Given the description of an element on the screen output the (x, y) to click on. 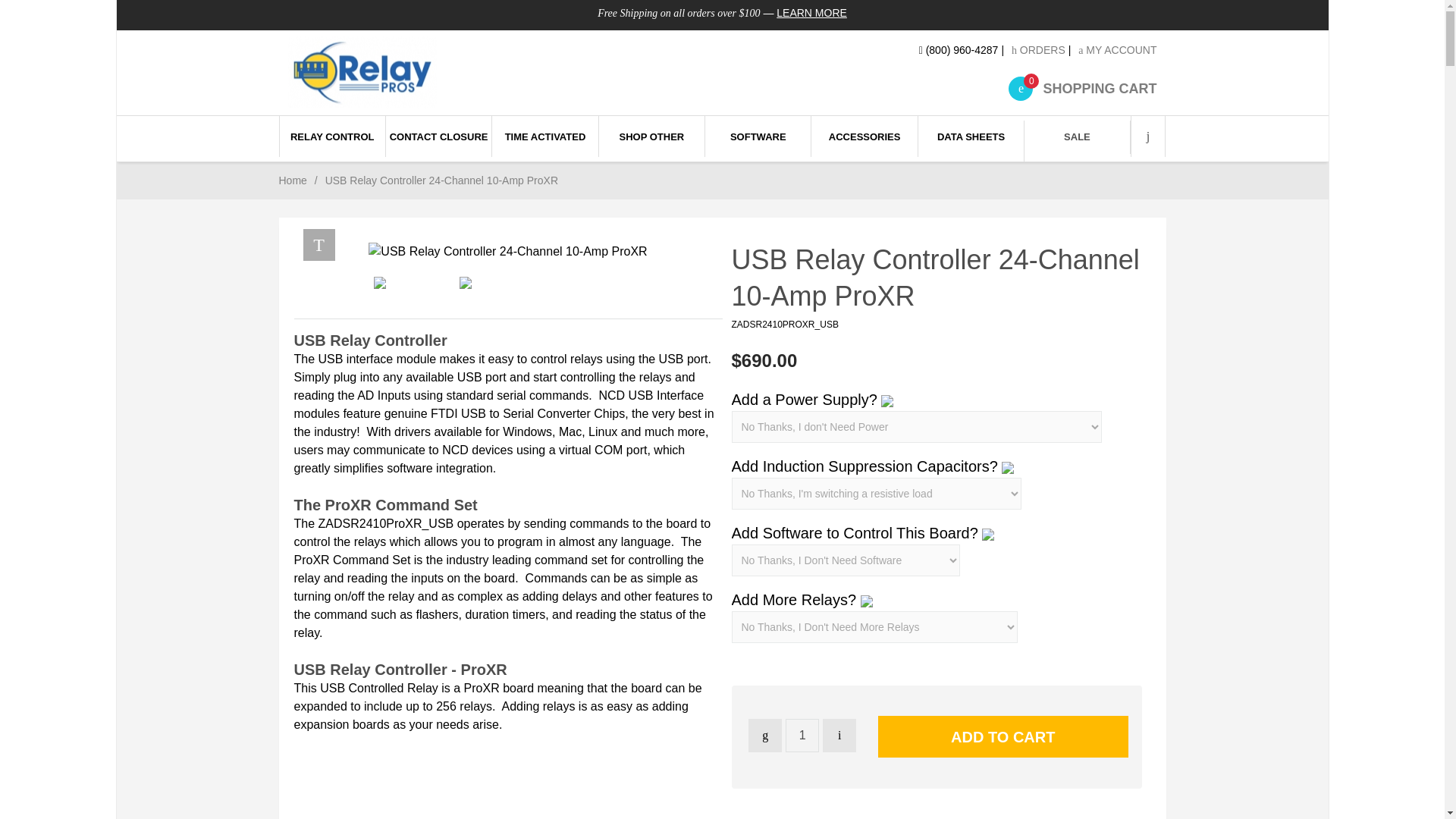
USB Relay Controller 24-Channel 10-Amp ProXR (507, 251)
Add to Cart (1082, 87)
LEARN MORE (1002, 736)
Relay Pros (811, 12)
Home (427, 72)
1 (293, 180)
MY ACCOUNT (802, 735)
Welcome to Relay Pros (1117, 50)
ORDERS (362, 72)
